Given the description of an element on the screen output the (x, y) to click on. 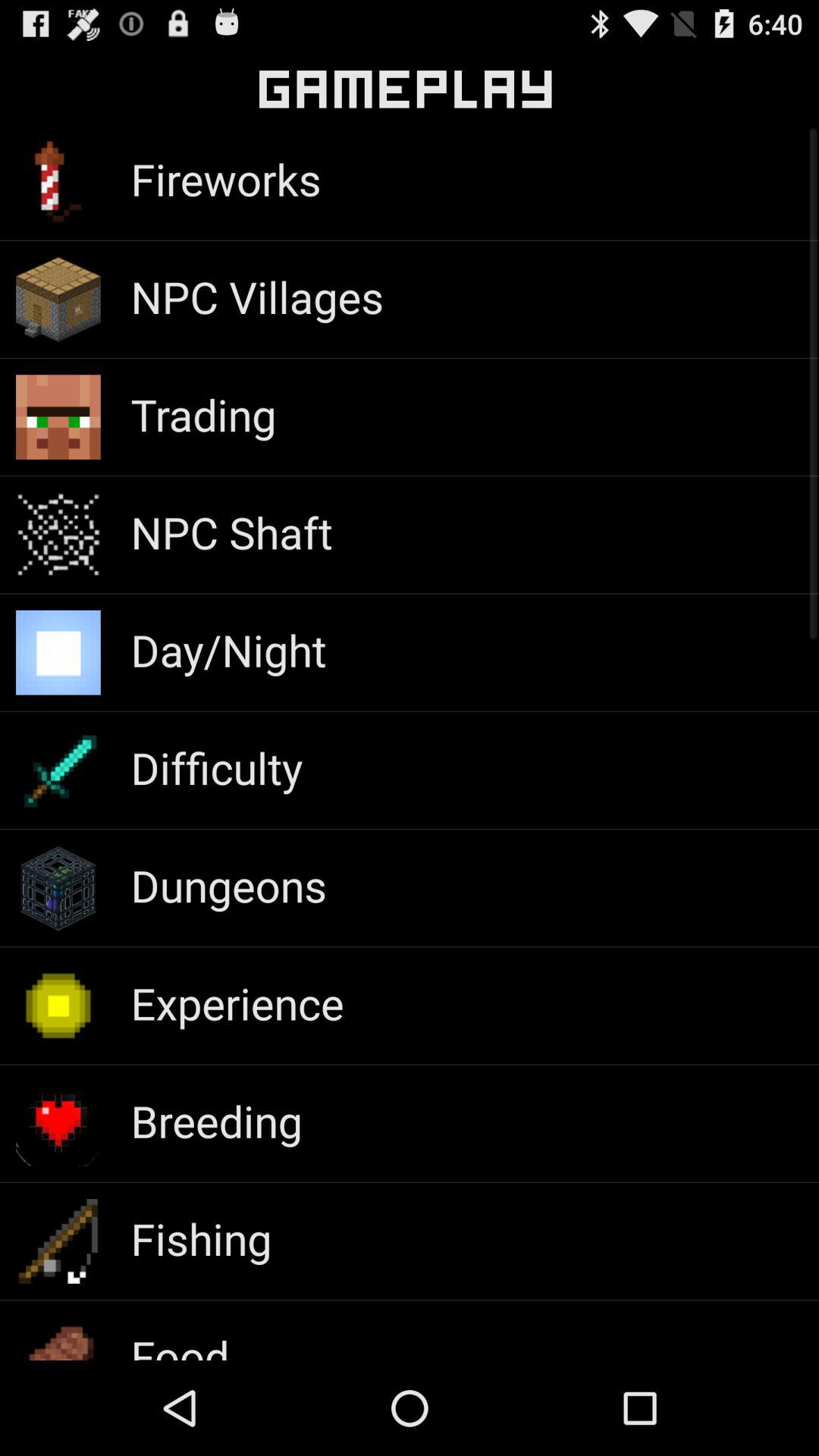
scroll until experience icon (237, 1002)
